Given the description of an element on the screen output the (x, y) to click on. 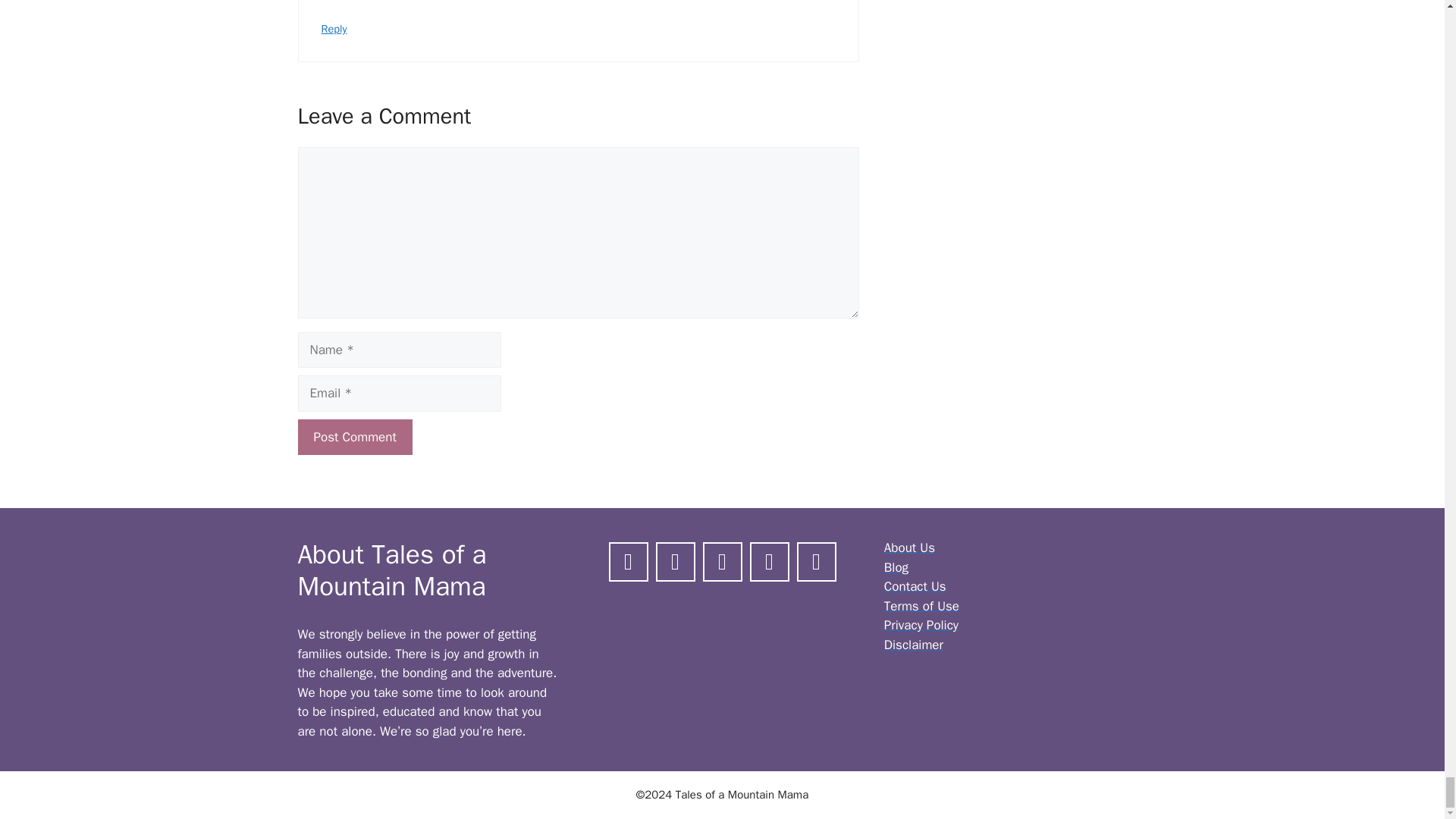
Pinterest (721, 559)
Instagram (675, 559)
Post Comment (354, 437)
Facebook (628, 559)
